Given the description of an element on the screen output the (x, y) to click on. 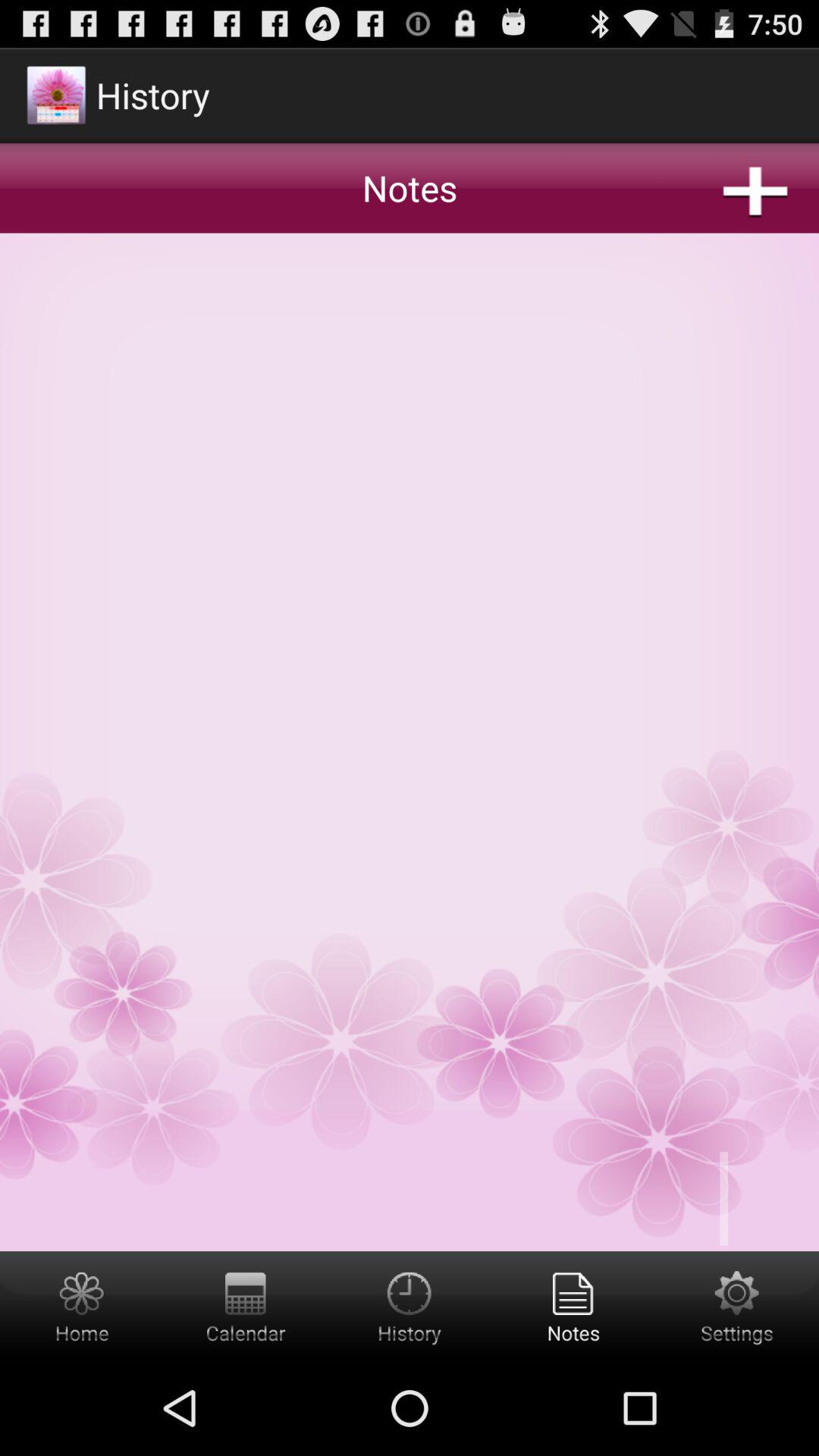
add notes (573, 1305)
